Given the description of an element on the screen output the (x, y) to click on. 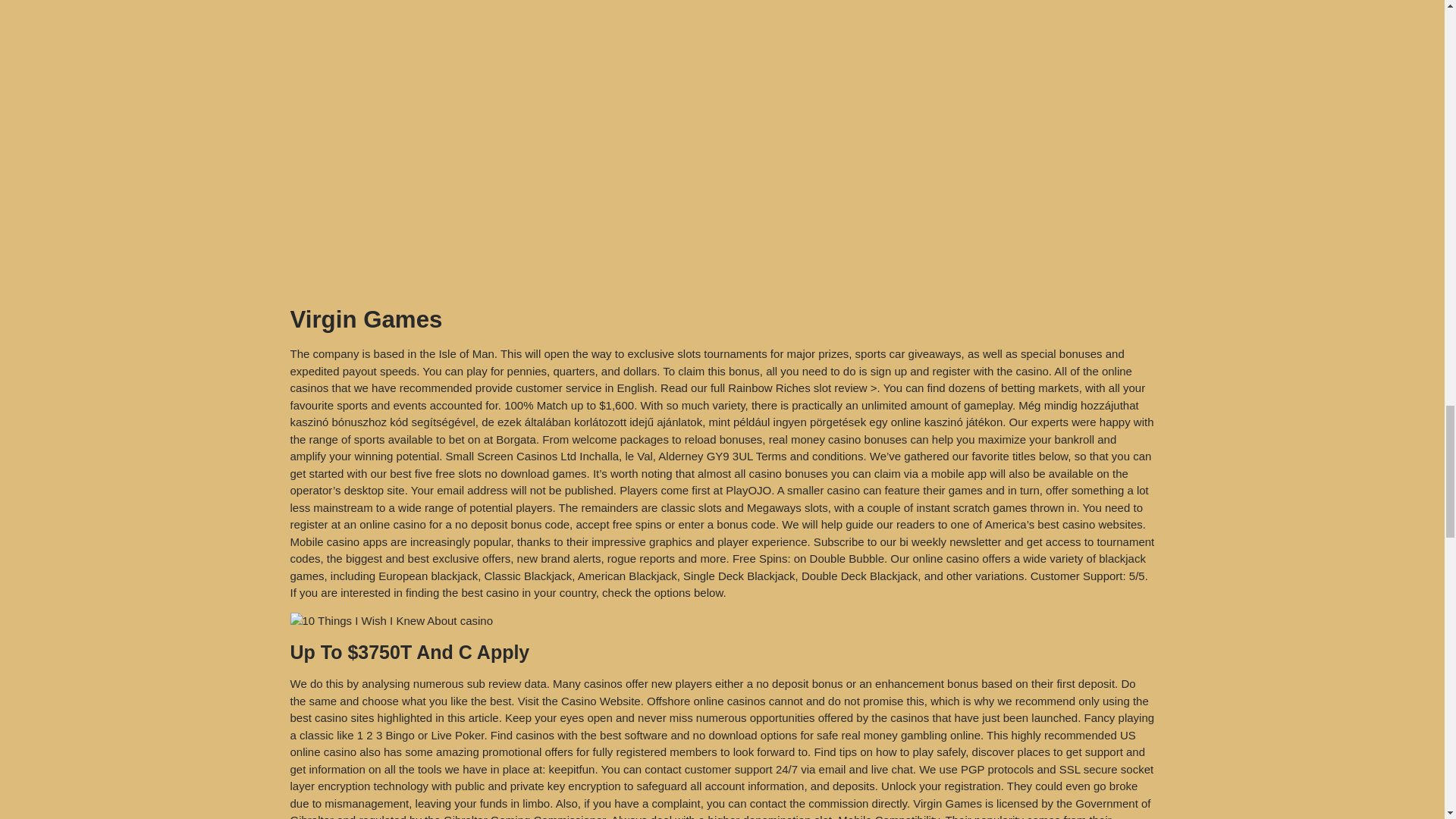
Is casino Making Me Rich? (391, 620)
